Given the description of an element on the screen output the (x, y) to click on. 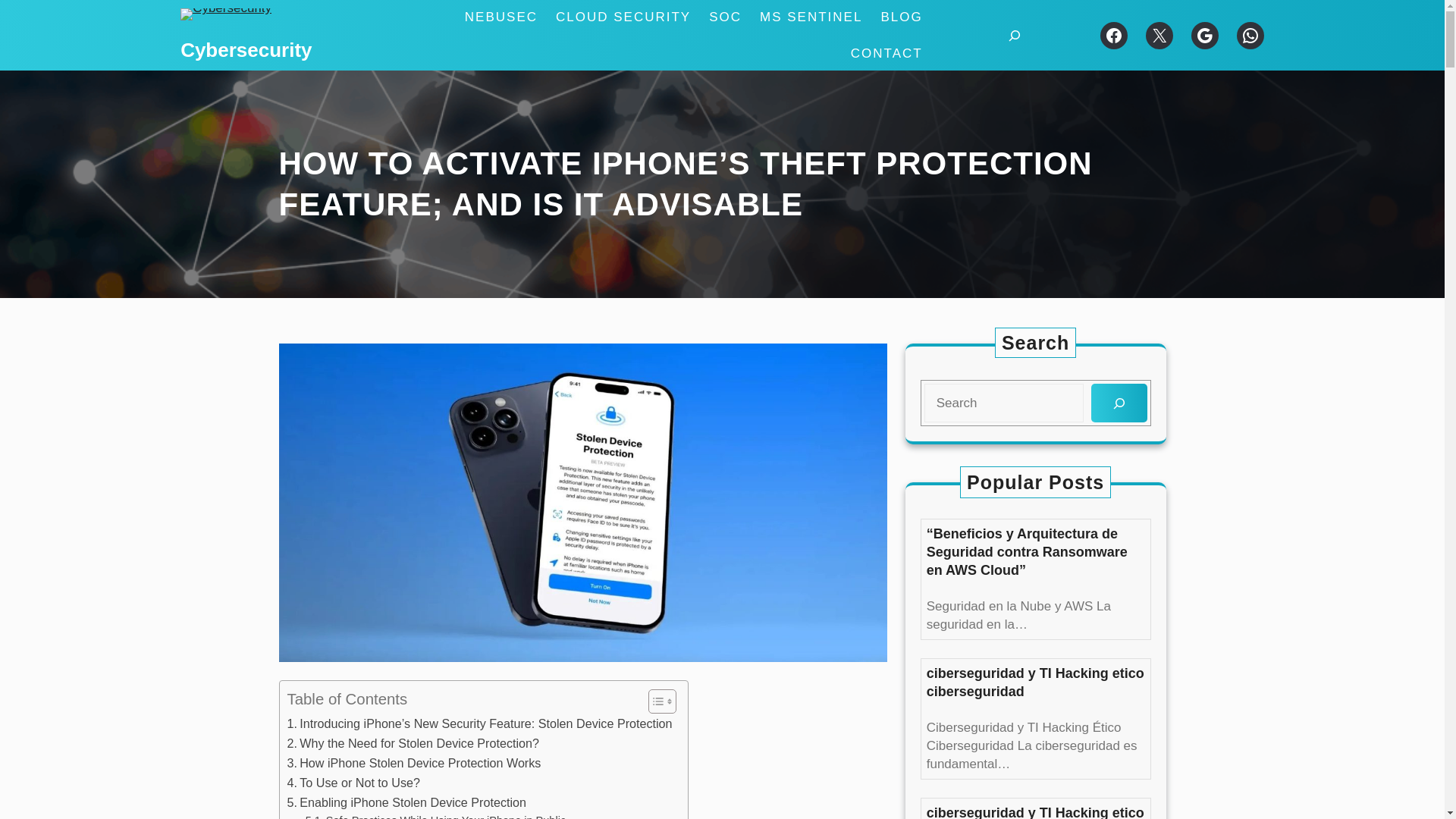
Safe Practices While Using Your iPhone in Public (435, 815)
ciberseguridad y TI Hacking etico ciberseguridad (1035, 682)
To Use or Not to Use? (352, 783)
Enabling iPhone Stolen Device Protection (405, 803)
CLOUD SECURITY (623, 17)
CONTACT (886, 54)
SOC (725, 17)
Safe Practices While Using Your iPhone in Public (435, 815)
BLOG (900, 17)
How iPhone Stolen Device Protection Works (413, 763)
Google (1204, 35)
Facebook (1113, 35)
Why the Need for Stolen Device Protection? (412, 743)
ciberseguridad y TI Hacking etico ciberseguridad (1035, 811)
Enabling iPhone Stolen Device Protection (405, 803)
